Given the description of an element on the screen output the (x, y) to click on. 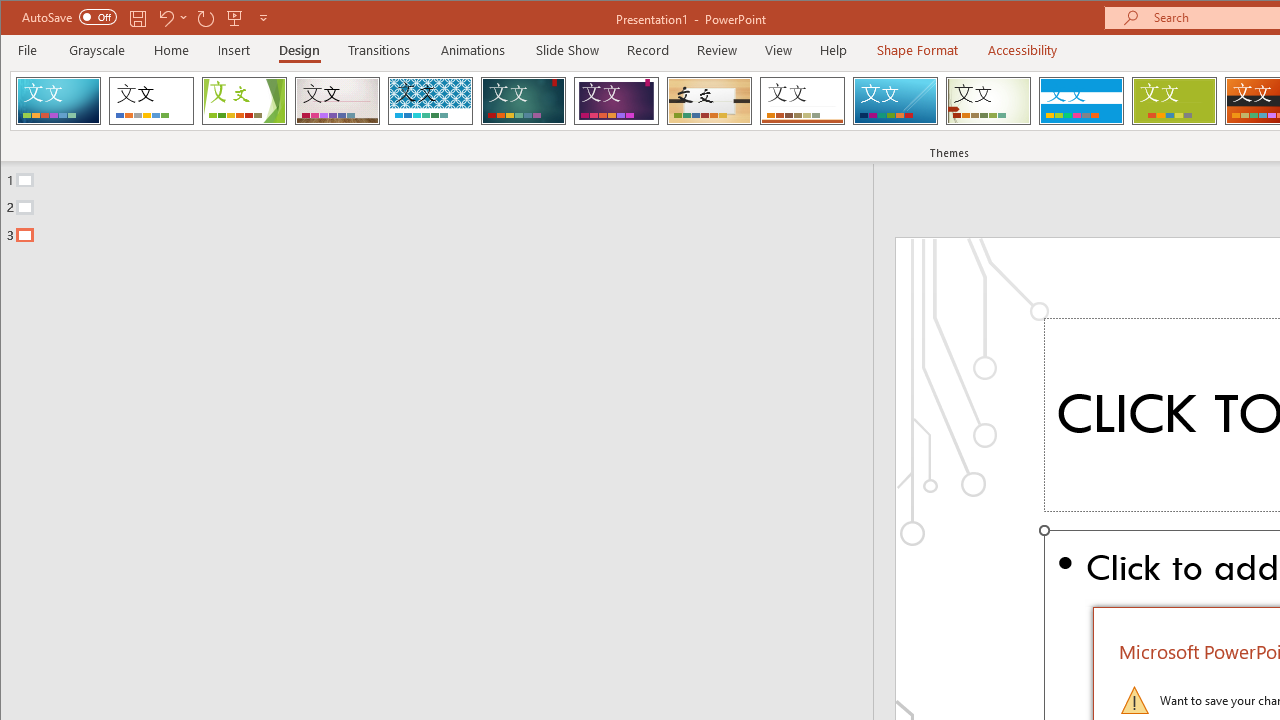
Outline (445, 203)
Facet (244, 100)
Integral (430, 100)
Warning Icon (1134, 699)
Shape Format (916, 50)
Basis (1174, 100)
